Given the description of an element on the screen output the (x, y) to click on. 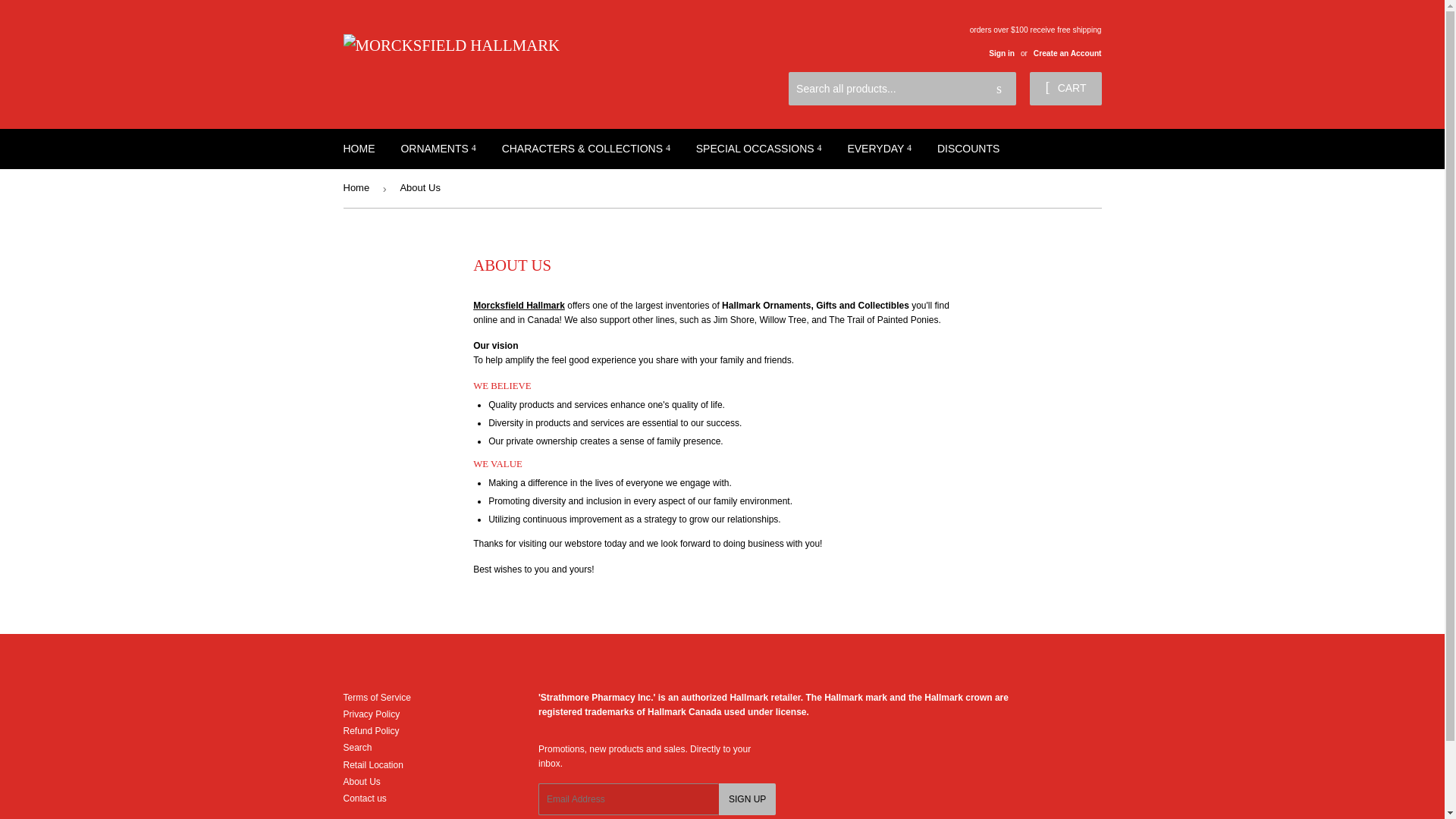
Sign in (1001, 53)
Search (998, 88)
CART (1064, 87)
Create an Account (1067, 53)
